Given the description of an element on the screen output the (x, y) to click on. 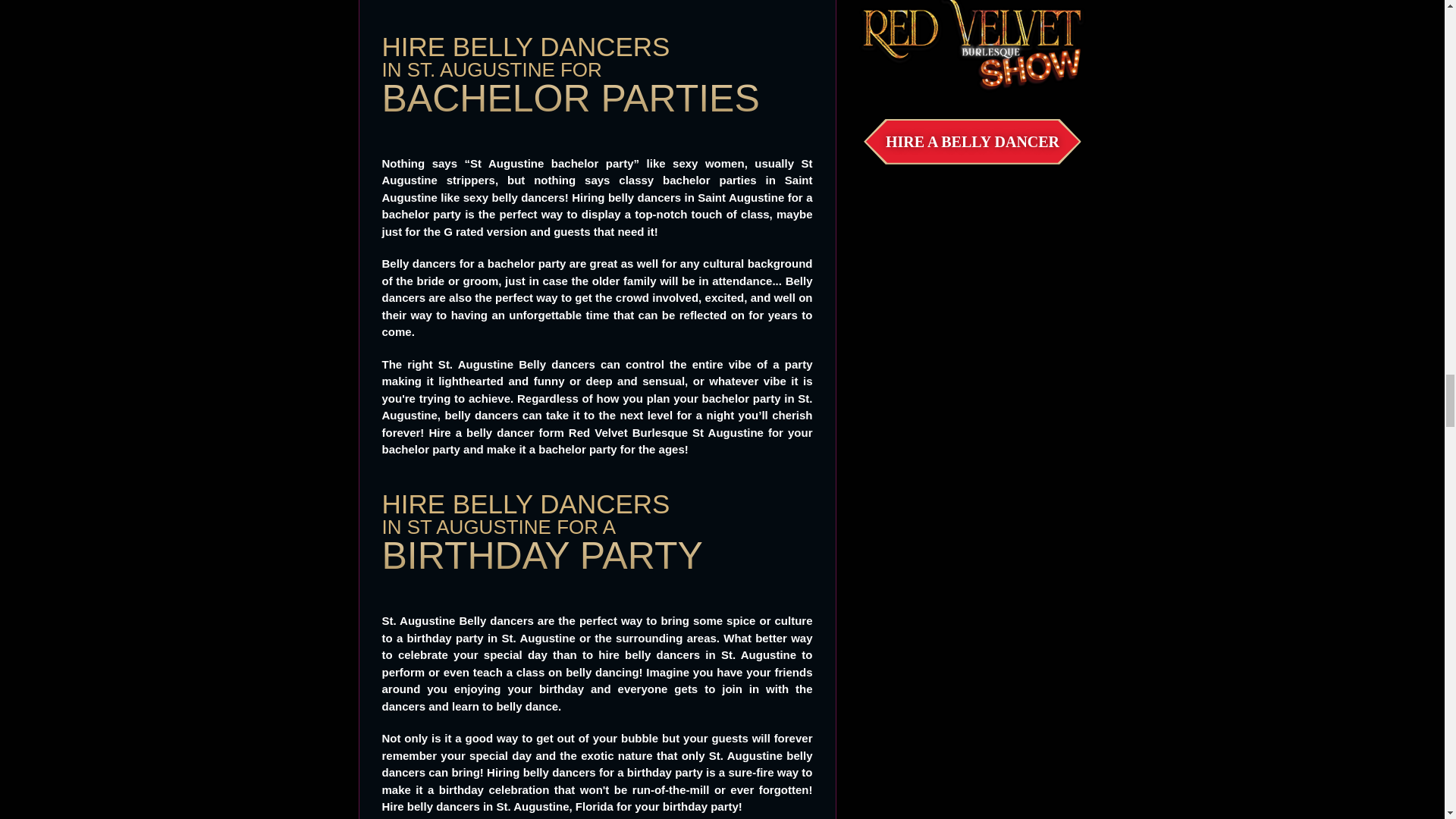
HIRE A BELLY DANCER (972, 141)
